Given the description of an element on the screen output the (x, y) to click on. 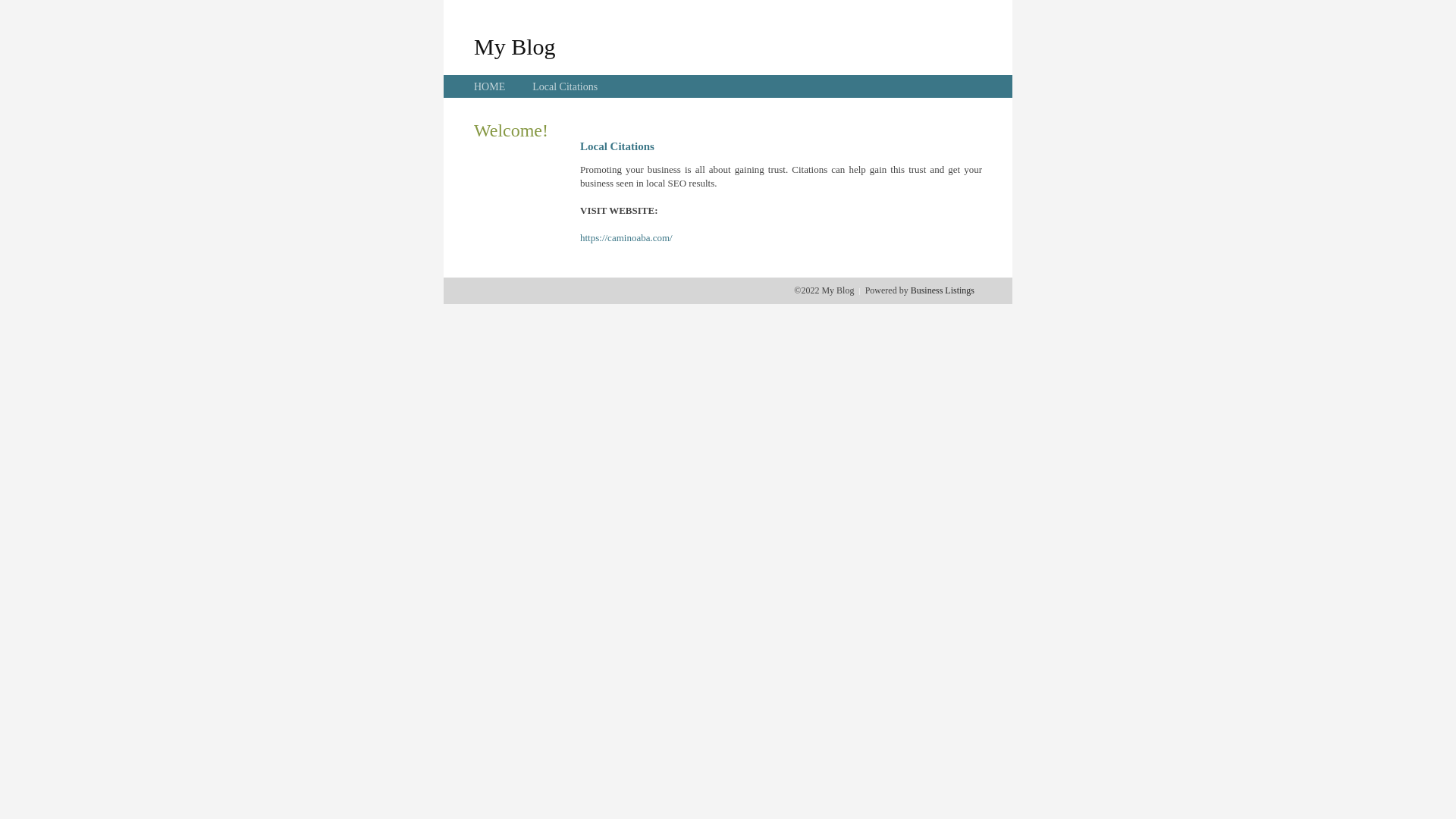
Business Listings Element type: text (942, 290)
My Blog Element type: text (514, 46)
HOME Element type: text (489, 86)
https://caminoaba.com/ Element type: text (626, 237)
Local Citations Element type: text (564, 86)
